Given the description of an element on the screen output the (x, y) to click on. 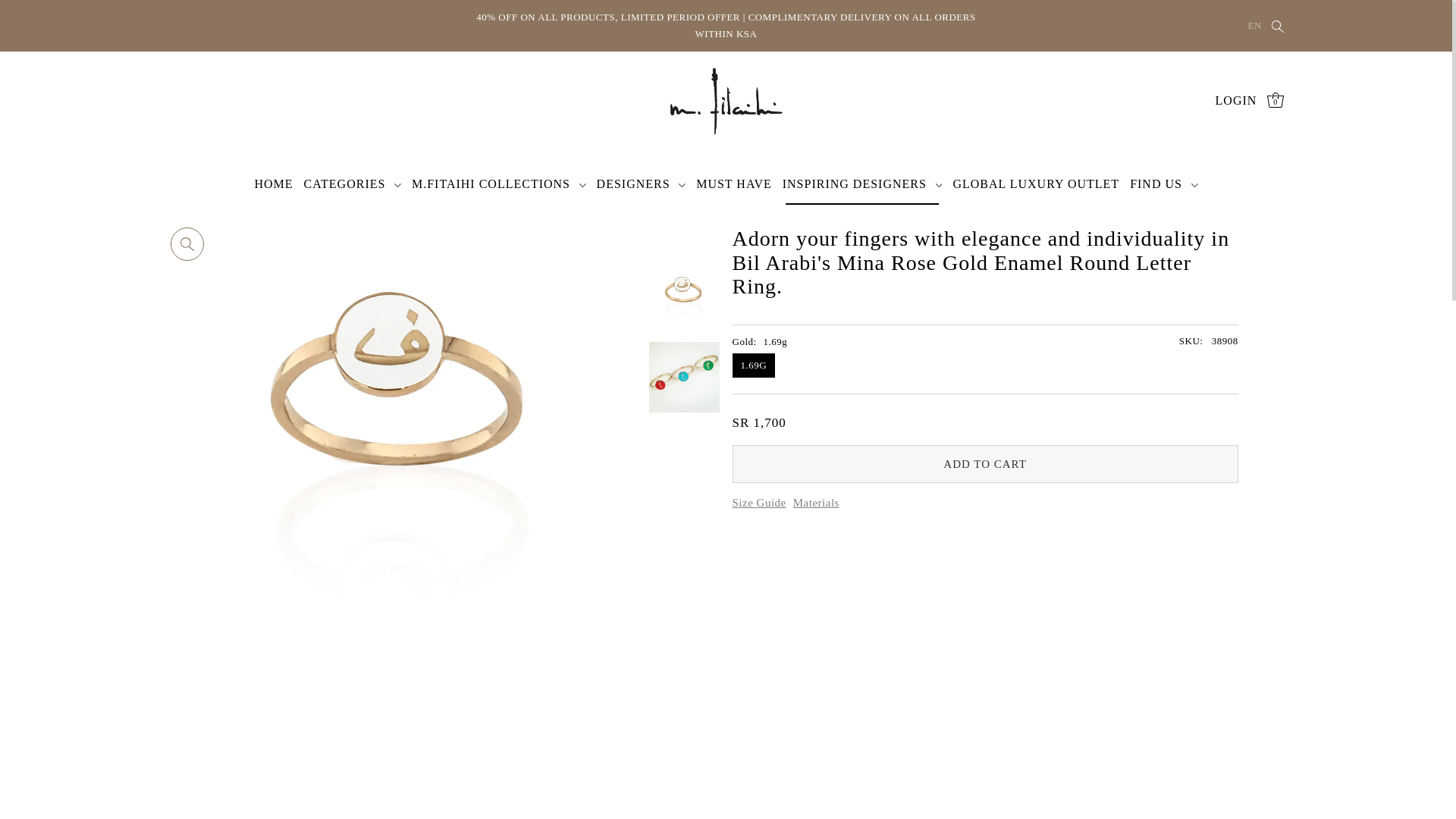
click to zoom-in (186, 244)
